Given the description of an element on the screen output the (x, y) to click on. 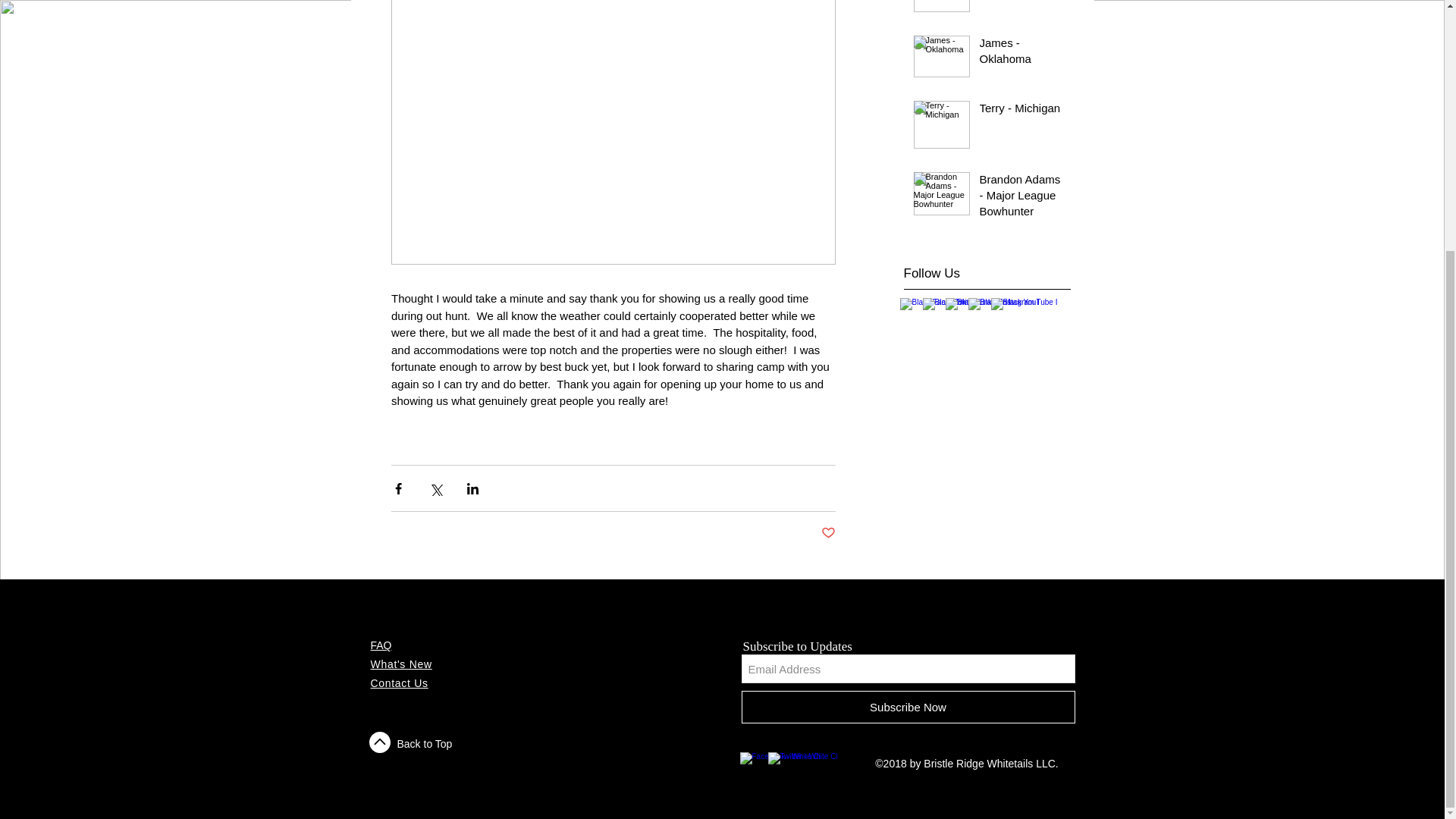
Contact Us (398, 683)
Brandon Adams - Major League Bowhunter (1020, 198)
James - Oklahoma (1020, 53)
Subscribe Now (908, 707)
Post not marked as liked (827, 533)
Back to Top (424, 743)
Terry - Michigan (1020, 110)
What's New (399, 664)
FAQ (380, 645)
